Given the description of an element on the screen output the (x, y) to click on. 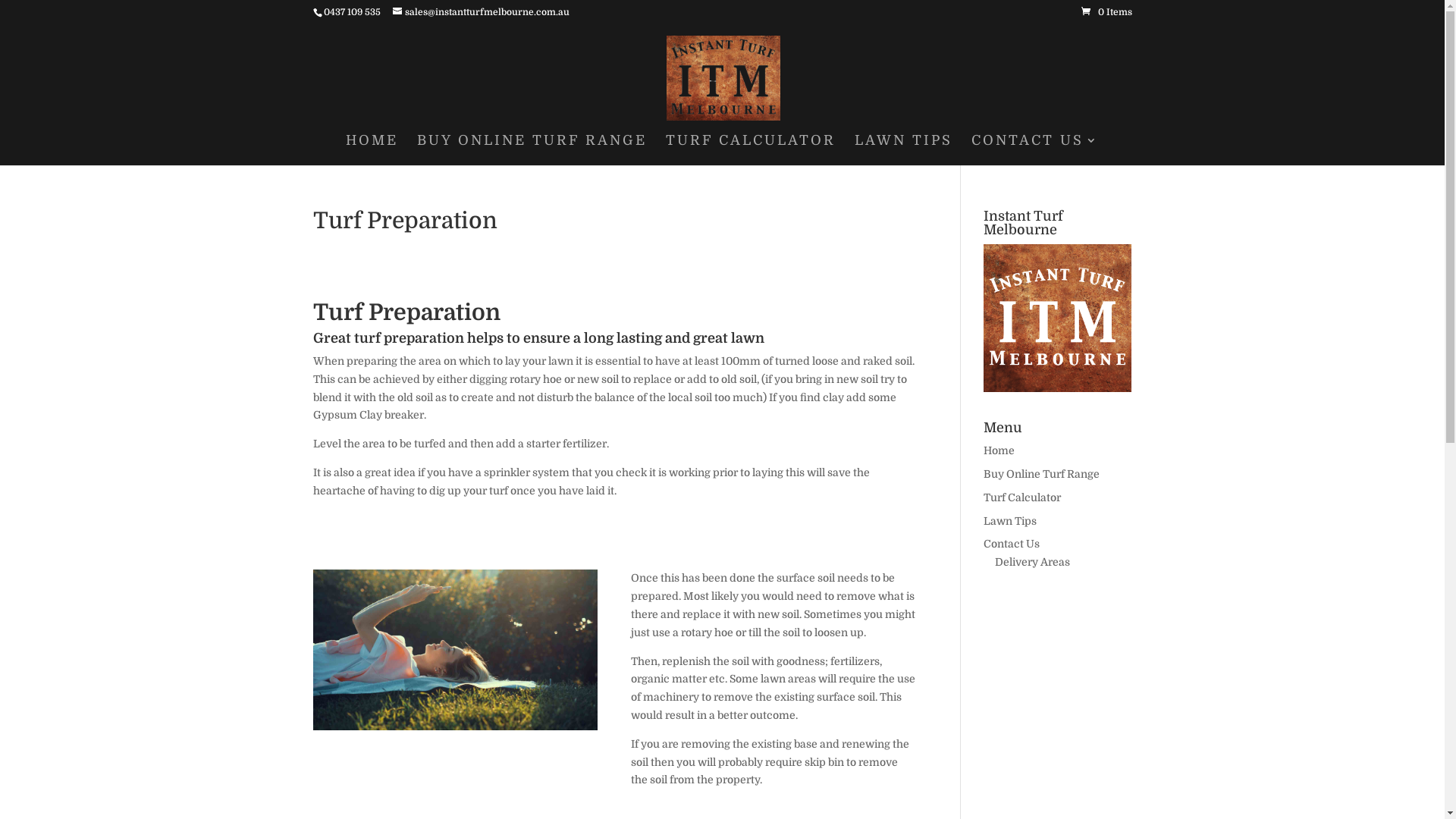
TURF CALCULATOR Element type: text (750, 149)
Buy Online Turf Range Element type: text (1041, 473)
CONTACT US Element type: text (1034, 149)
Contact Us Element type: text (1011, 543)
Instant Turf Melbourne - Turf Preparation Element type: hover (454, 649)
Delivery Areas Element type: text (1032, 561)
BUY ONLINE TURF RANGE Element type: text (531, 149)
0 Items Element type: text (1106, 11)
LAWN TIPS Element type: text (903, 149)
HOME Element type: text (371, 149)
Turf Calculator Element type: text (1021, 497)
Home Element type: text (998, 450)
sales@instantturfmelbourne.com.au Element type: text (480, 11)
Lawn Tips Element type: text (1009, 520)
